Given the description of an element on the screen output the (x, y) to click on. 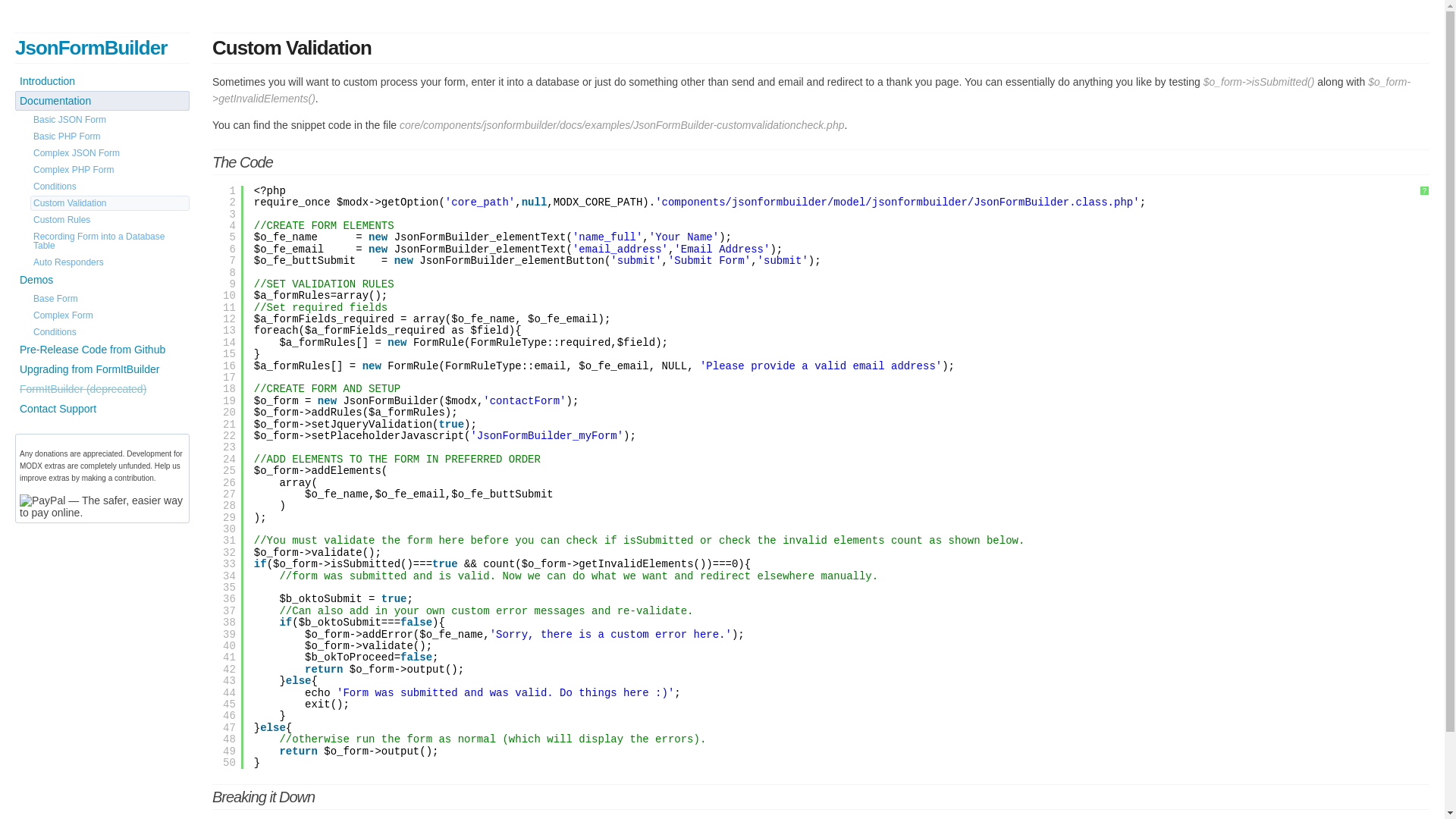
Pre-Release Code from Github Element type: text (102, 349)
Demos Element type: text (102, 279)
JsonFormBuilder Element type: text (90, 47)
Complex Form Element type: text (109, 315)
FormItBuilder (deprecated) Element type: text (102, 388)
Complex PHP Form Element type: text (109, 169)
Recording Form into a Database Table Element type: text (109, 241)
Base Form Element type: text (109, 298)
Introduction Element type: text (102, 81)
Complex JSON Form Element type: text (109, 152)
Custom Validation Element type: text (109, 202)
Basic PHP Form Element type: text (109, 136)
Custom Rules Element type: text (109, 219)
Basic JSON Form Element type: text (109, 119)
? Element type: text (1424, 190)
Auto Responders Element type: text (109, 261)
Contact Support Element type: text (102, 408)
Conditions Element type: text (109, 331)
Upgrading from FormItBuilder Element type: text (102, 369)
Conditions Element type: text (109, 186)
Documentation Element type: text (102, 100)
